Given the description of an element on the screen output the (x, y) to click on. 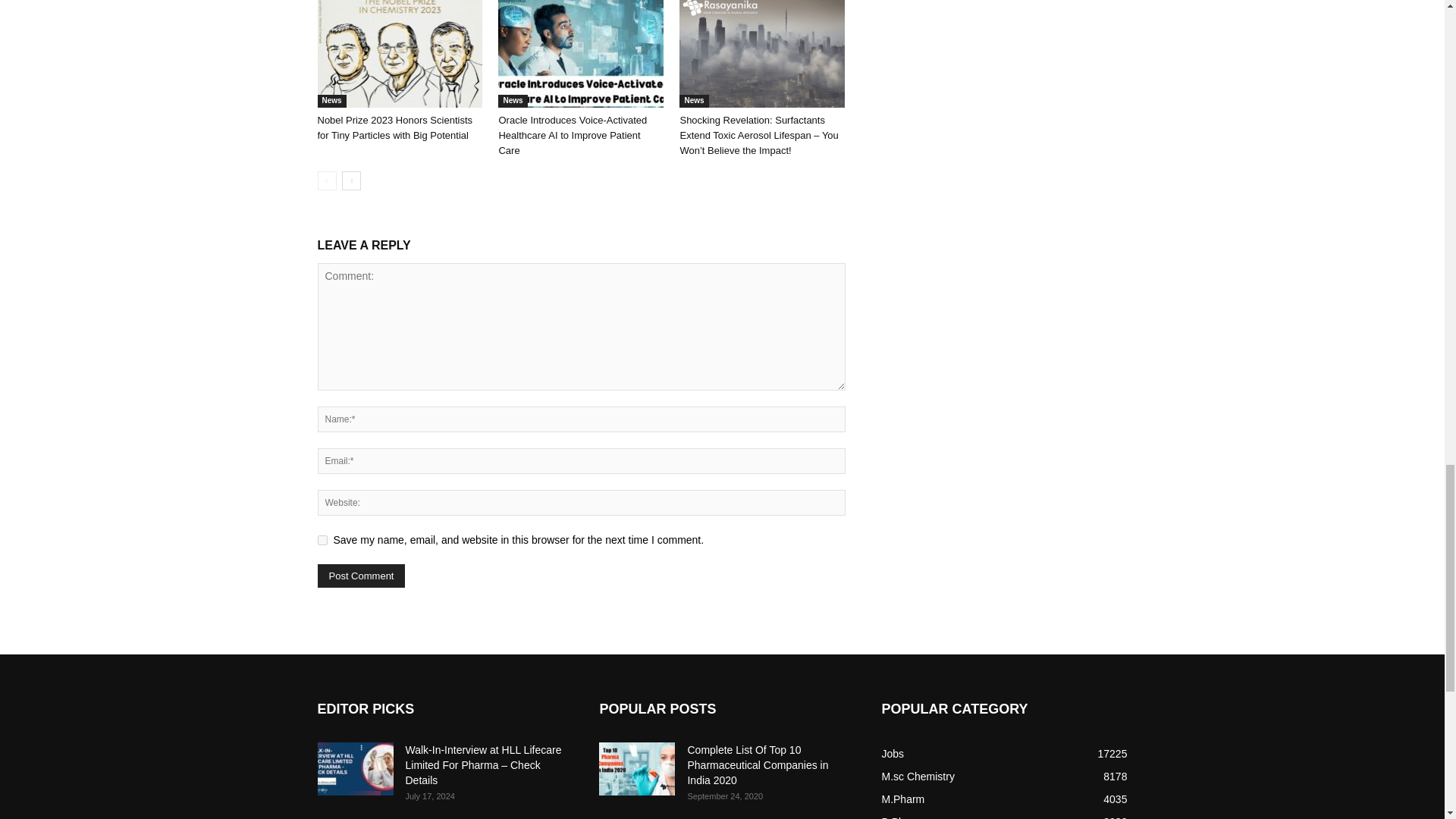
Post Comment (360, 576)
yes (321, 540)
